Given the description of an element on the screen output the (x, y) to click on. 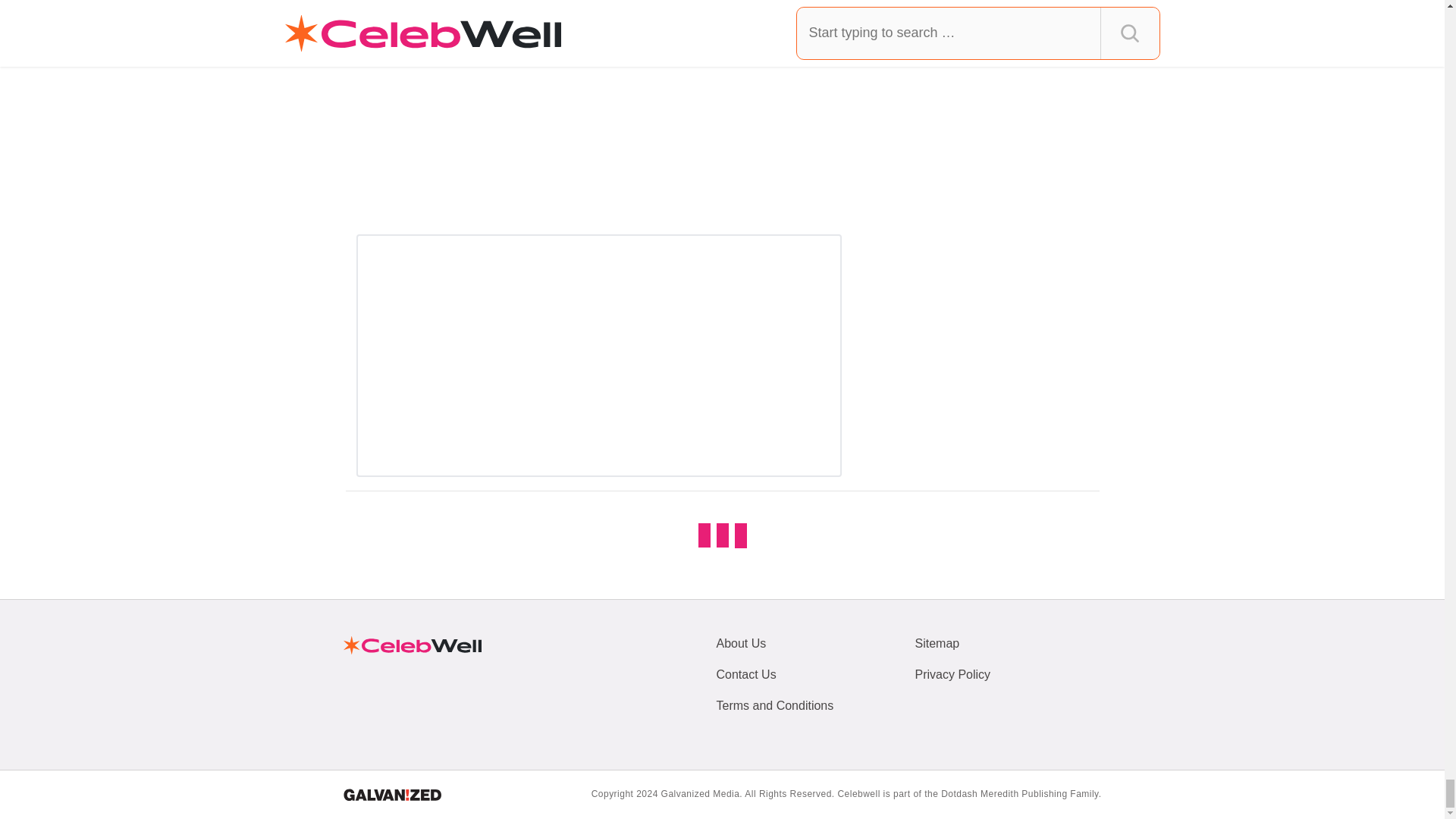
Homepage of Celebwell (411, 644)
Galvanized Media Logo (391, 794)
